Given the description of an element on the screen output the (x, y) to click on. 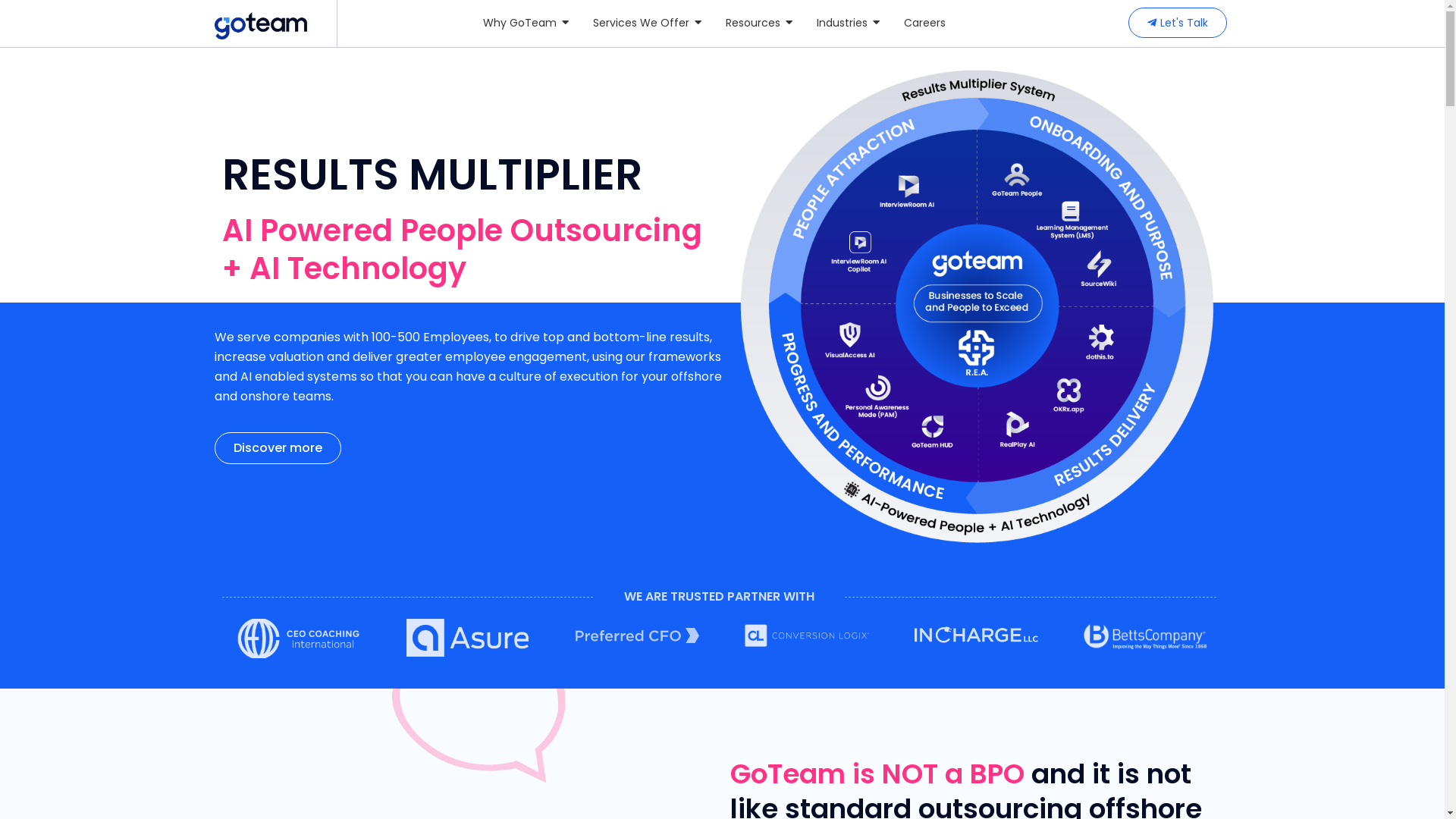
Let's Talk Element type: text (1177, 22)
Services We Offer Element type: text (647, 22)
Industries Element type: text (847, 22)
goteam-ecosystem Element type: hover (975, 305)
Why GoTeam Element type: text (525, 22)
Discover more Element type: text (276, 448)
Resources Element type: text (758, 22)
Careers Element type: text (924, 22)
